Given the description of an element on the screen output the (x, y) to click on. 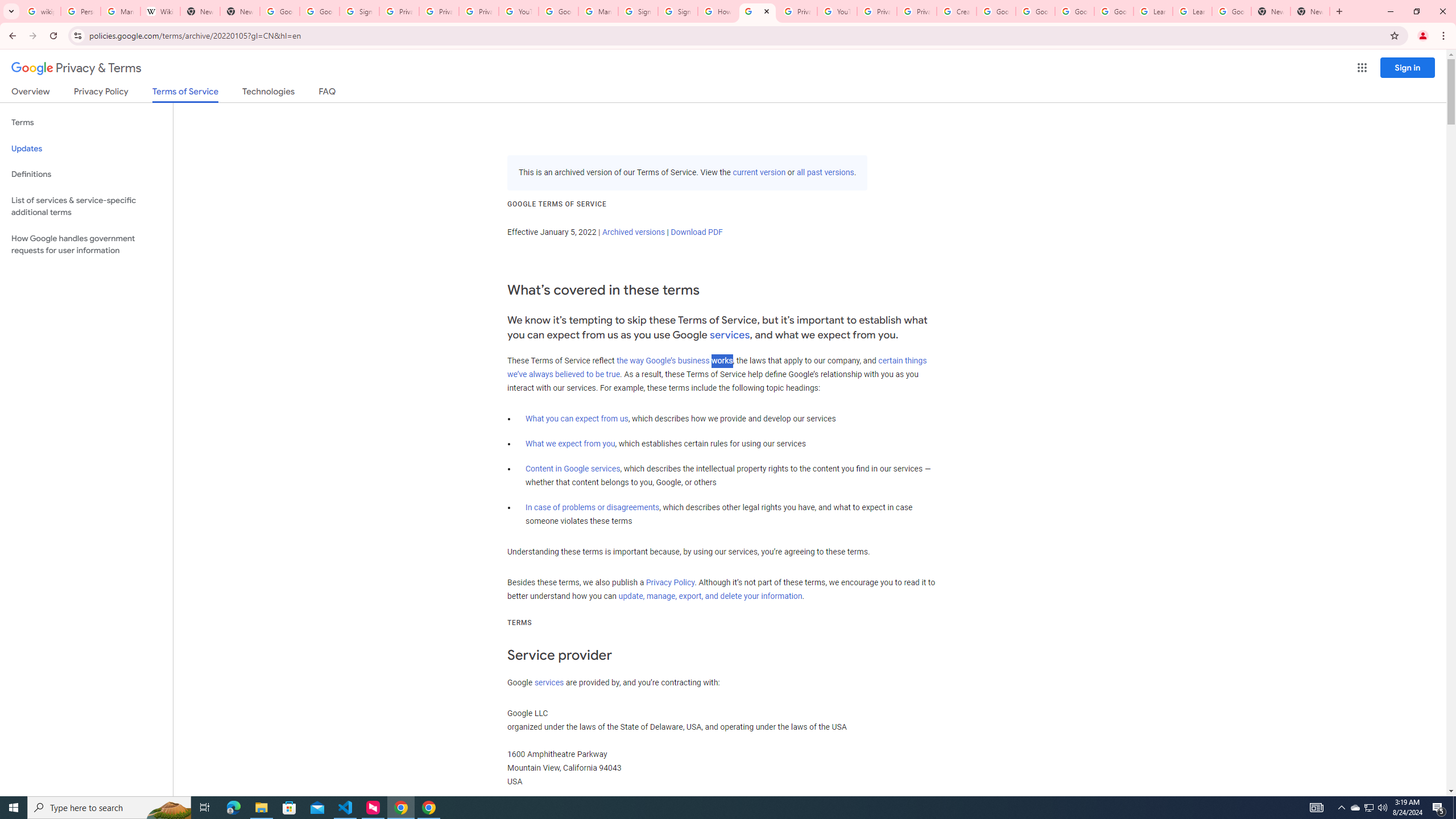
Google Account Help (1074, 11)
Google Drive: Sign-in (319, 11)
List of services & service-specific additional terms (86, 206)
Google Account Help (557, 11)
Sign in - Google Accounts (677, 11)
YouTube (836, 11)
